Given the description of an element on the screen output the (x, y) to click on. 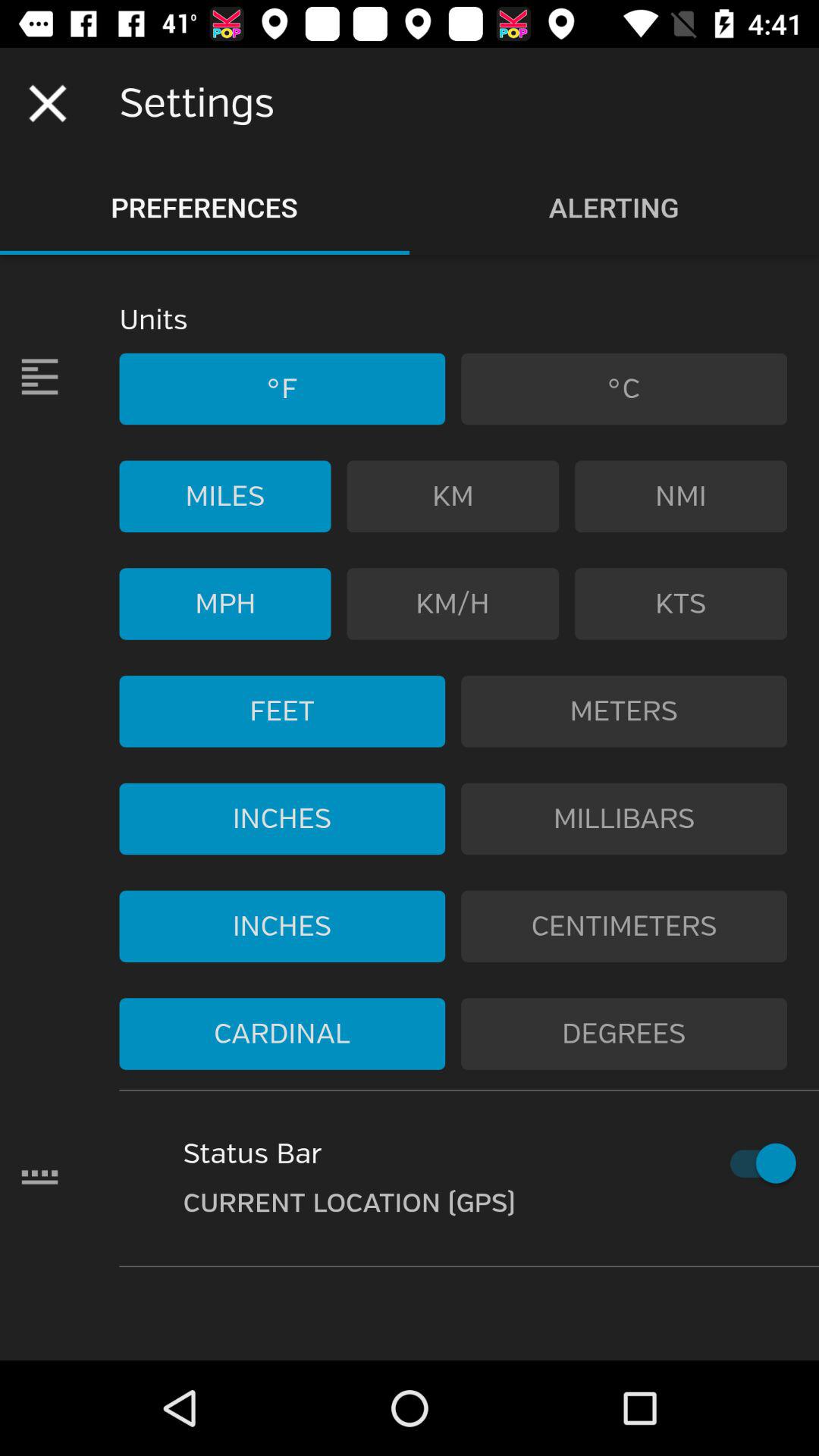
turn on the item to the left of km (225, 496)
